Given the description of an element on the screen output the (x, y) to click on. 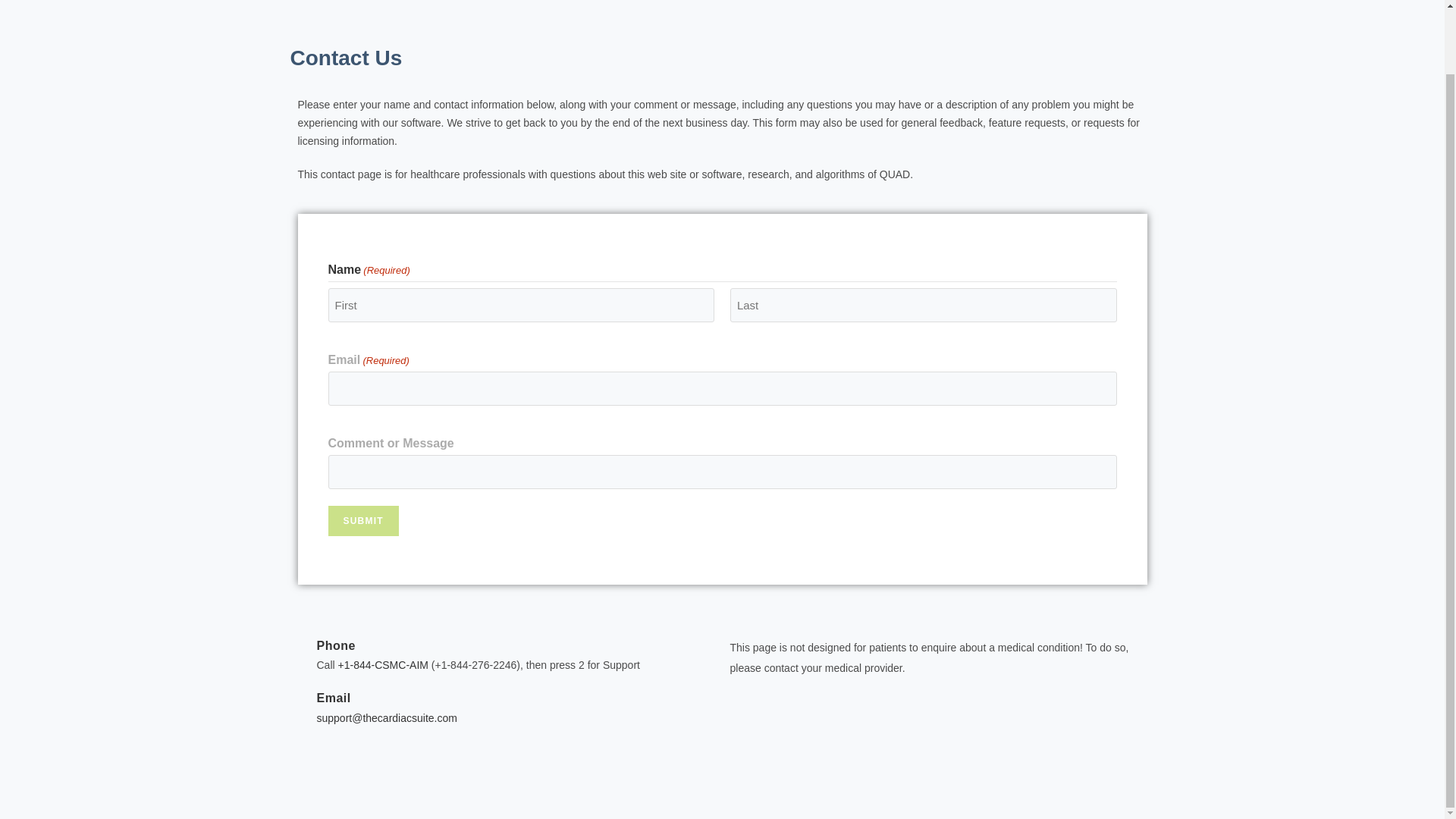
About Us (631, 487)
Enter your email address (1029, 557)
Submit (362, 521)
Submit (362, 521)
CSMC Cardiac Suite User Manual (631, 512)
Cedars-Sinai Medical Locations (631, 538)
